Given the description of an element on the screen output the (x, y) to click on. 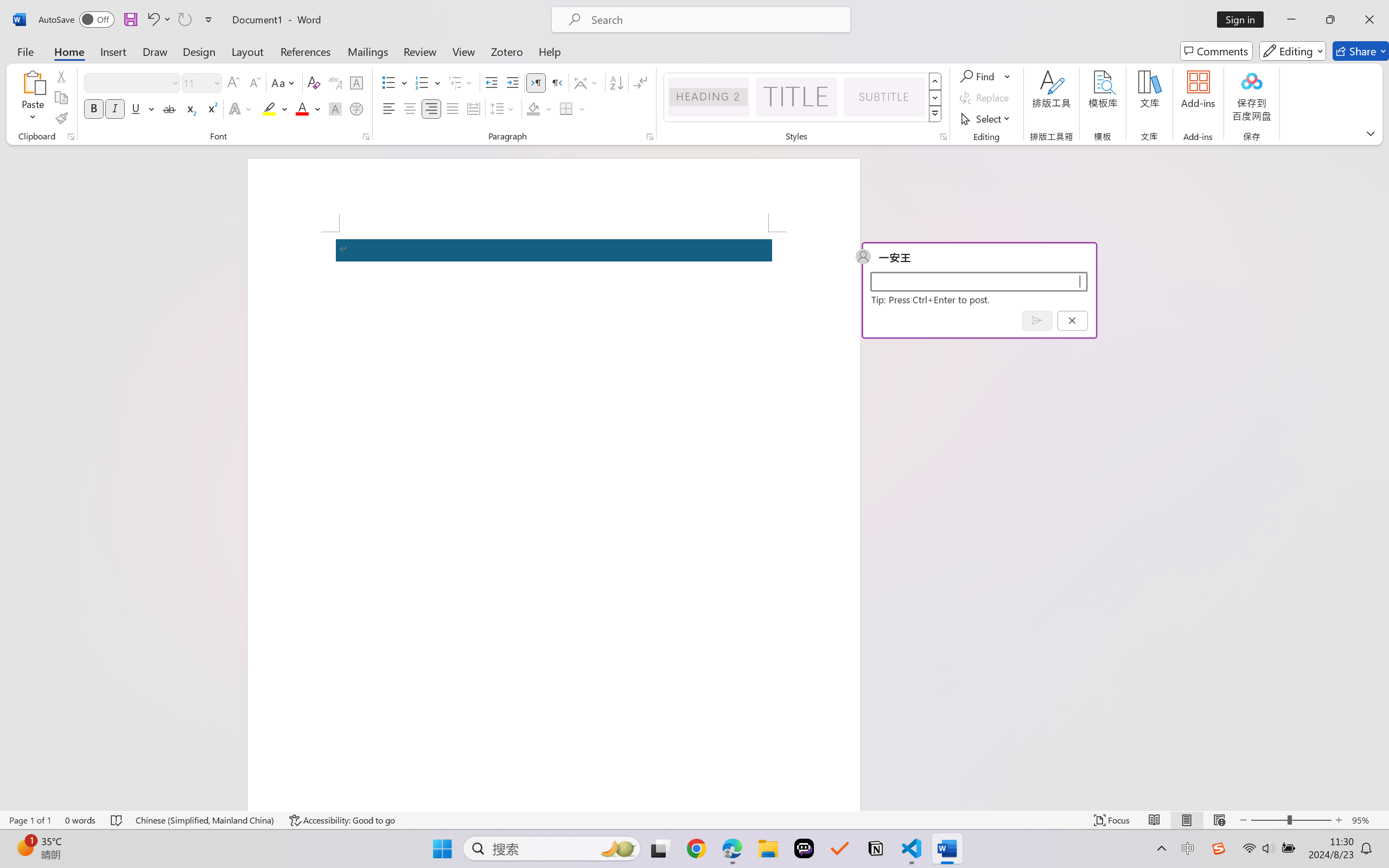
AutomationID: QuickStylesGallery (802, 97)
Right-to-Left (556, 82)
